Given the description of an element on the screen output the (x, y) to click on. 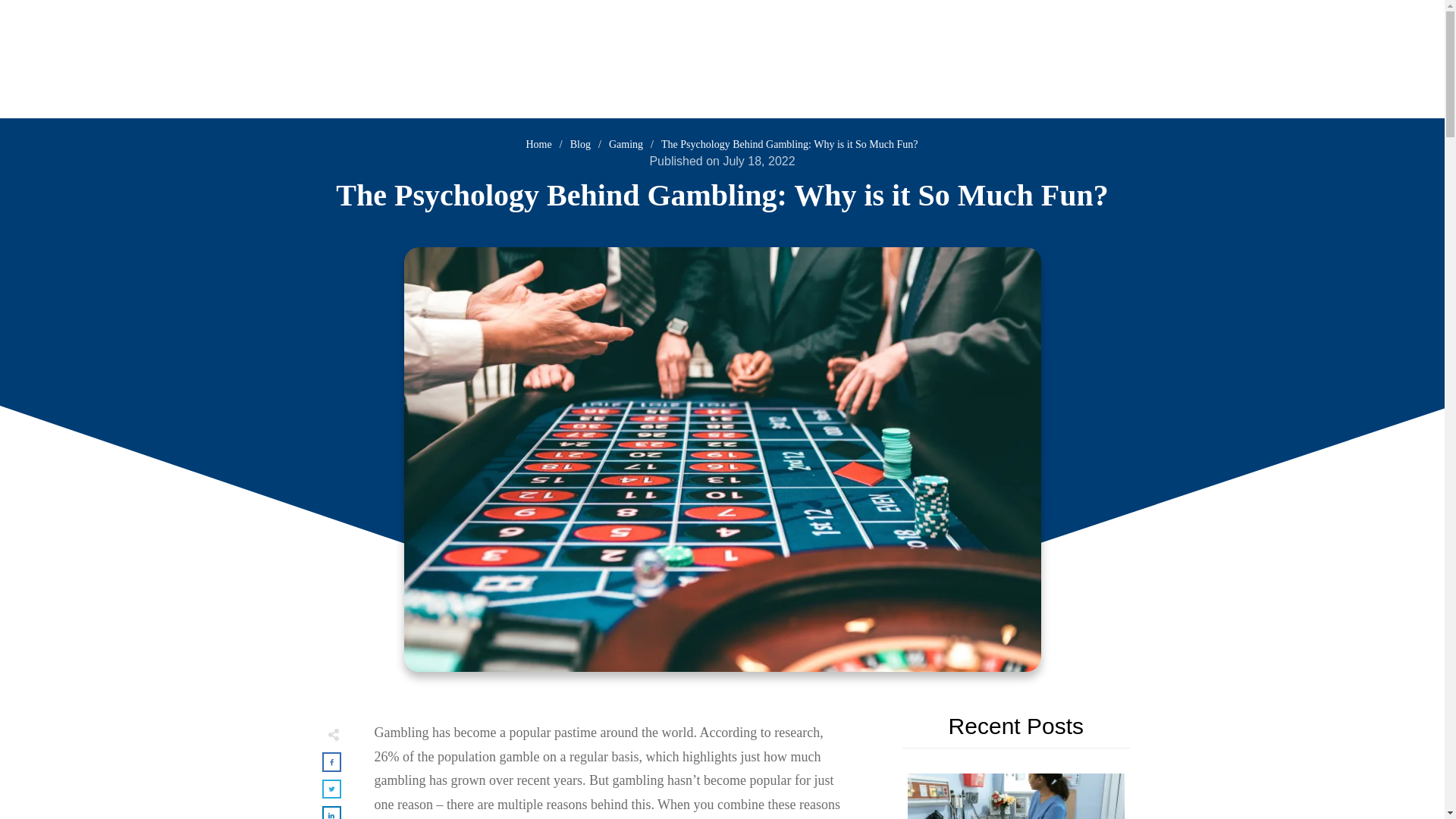
Home (538, 143)
Blog (580, 143)
Gaming (625, 143)
